Given the description of an element on the screen output the (x, y) to click on. 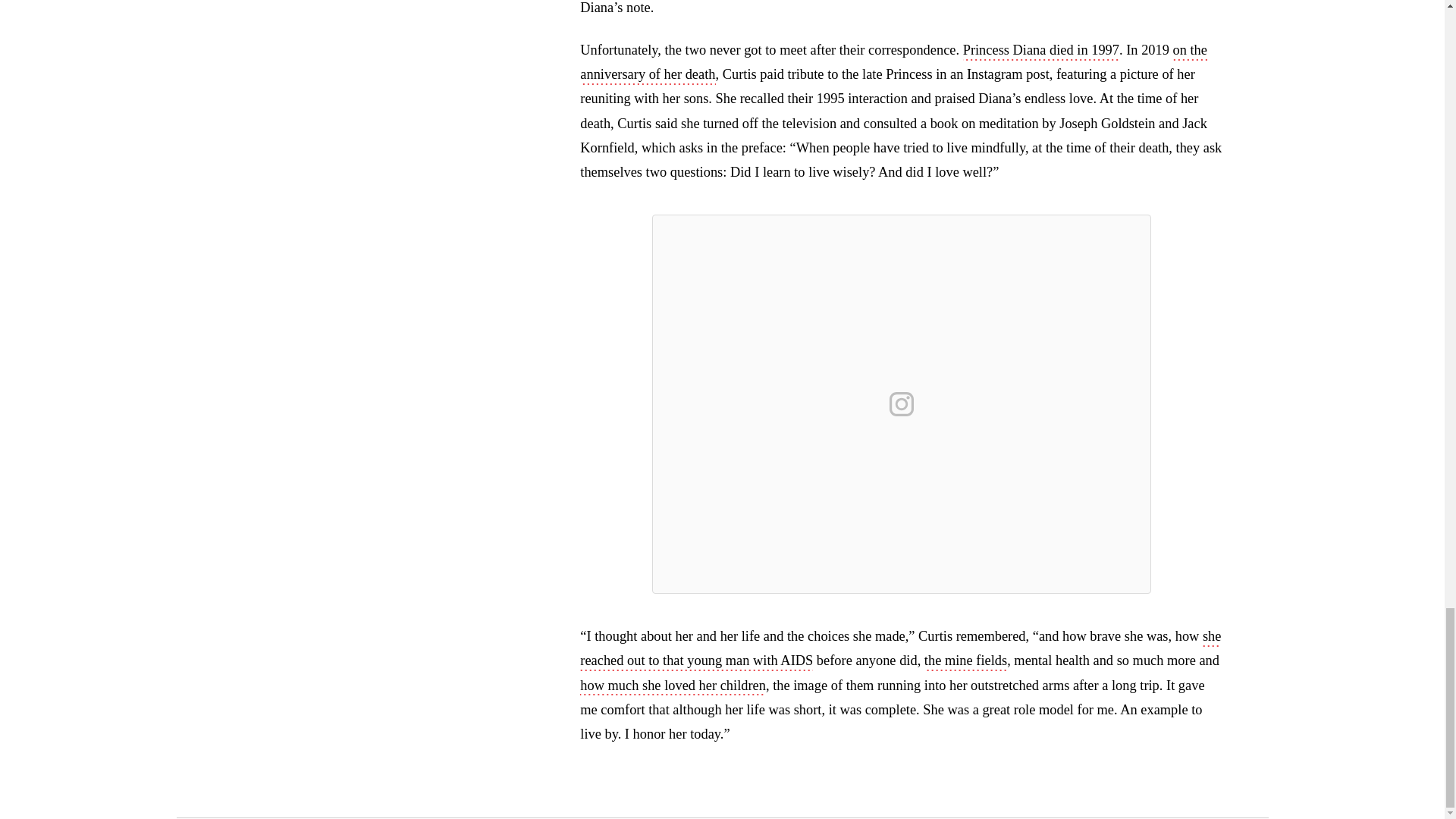
on the anniversary of her death (893, 63)
how much she loved her children (672, 687)
View on Instagram (901, 403)
Princess Diana died in 1997 (1040, 51)
she reached out to that young man with AIDS (900, 649)
the mine fields (965, 661)
